Given the description of an element on the screen output the (x, y) to click on. 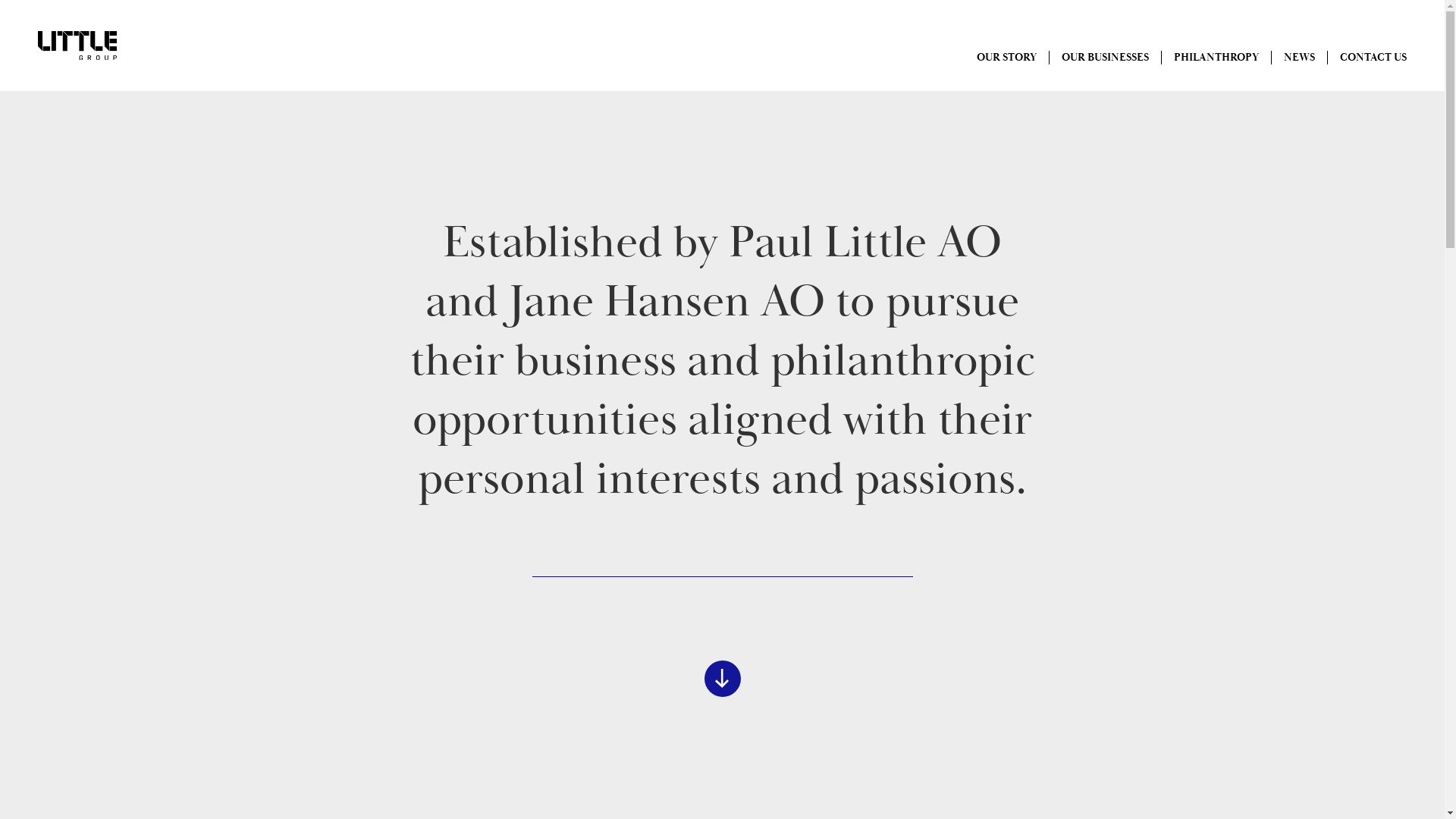
CONTACT US Element type: text (1372, 57)
OUR BUSINESSES Element type: text (1104, 57)
NEWS Element type: text (1298, 57)
OUR STORY Element type: text (1006, 57)
PHILANTHROPY Element type: text (1215, 57)
